Given the description of an element on the screen output the (x, y) to click on. 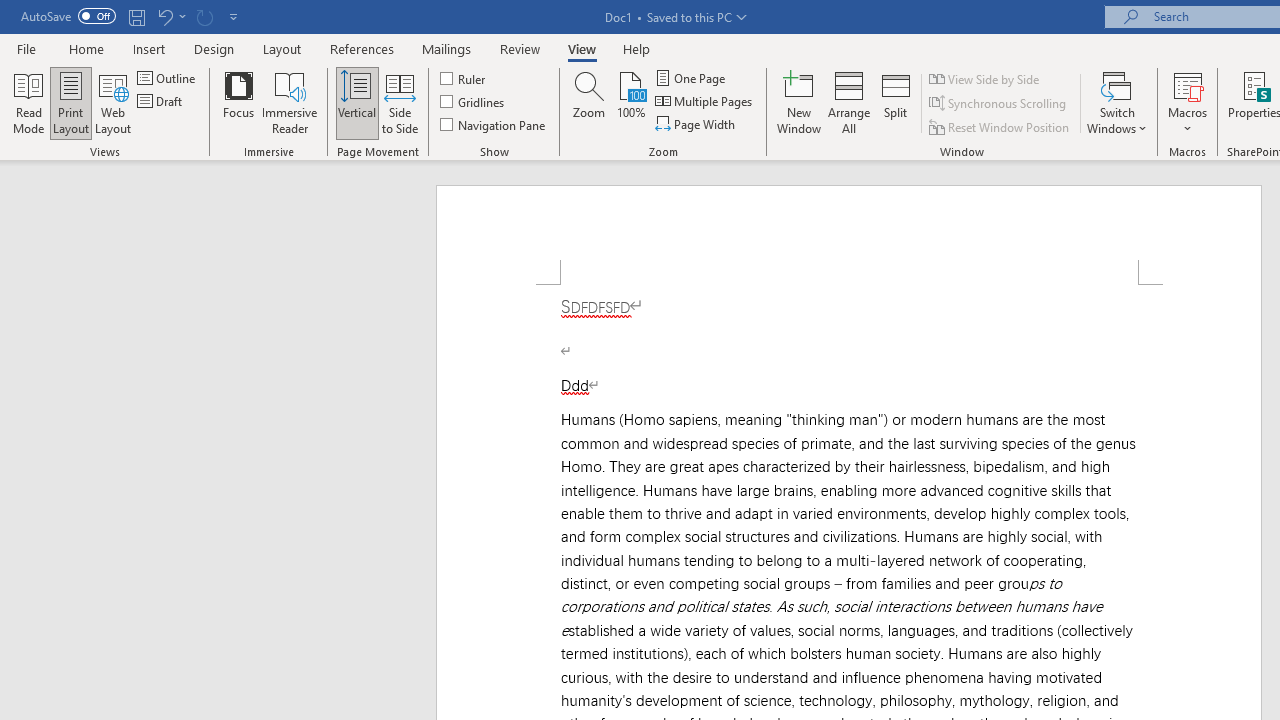
Page Width (696, 124)
Synchronous Scrolling (998, 103)
Web Layout (113, 102)
References (362, 48)
Macros (1187, 102)
One Page (691, 78)
Insert (149, 48)
Review (520, 48)
Multiple Pages (705, 101)
Zoom... (589, 102)
100% (630, 102)
Mailings (447, 48)
Design (214, 48)
Switch Windows (1117, 102)
